Given the description of an element on the screen output the (x, y) to click on. 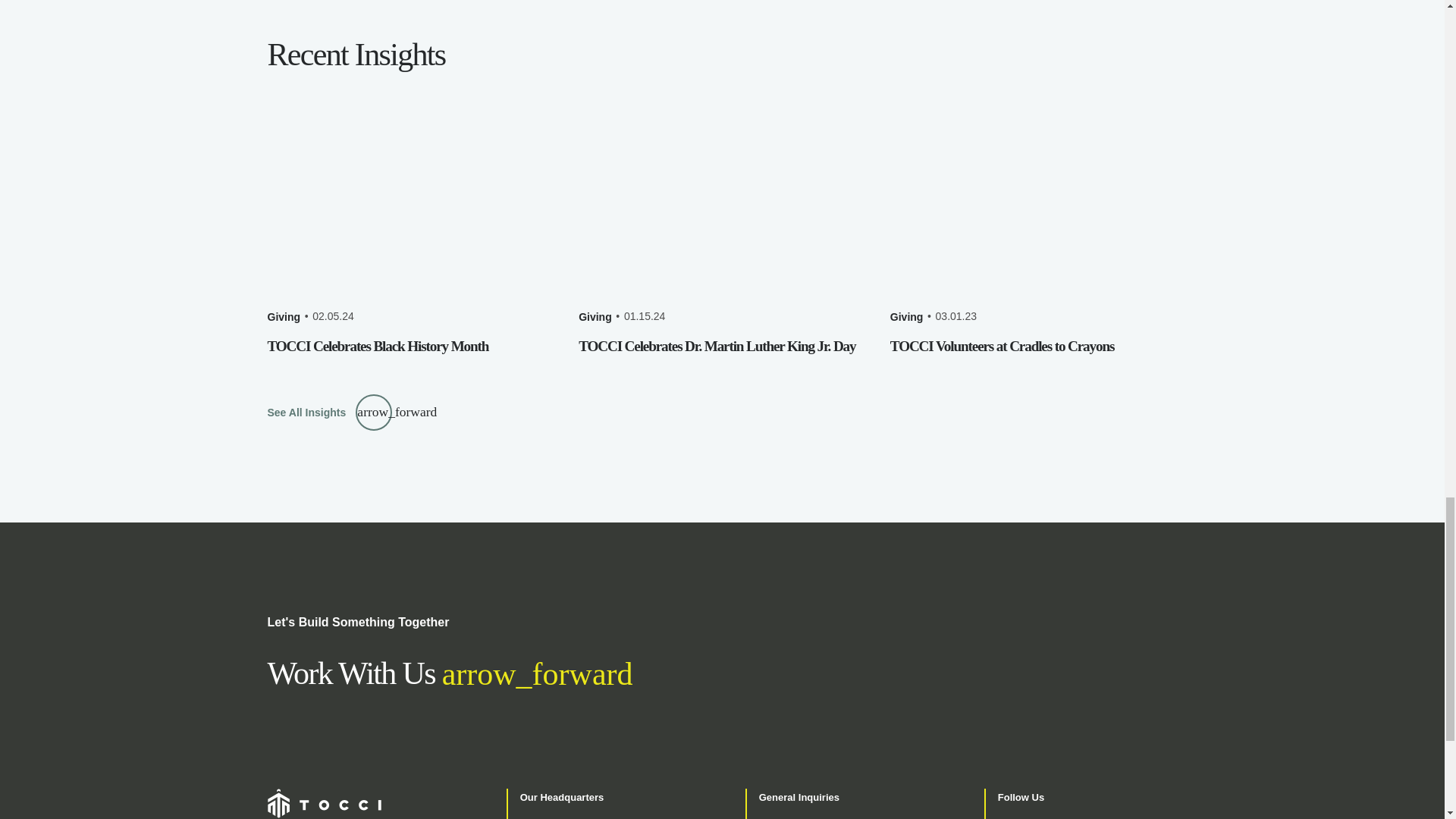
Giving (906, 316)
Giving (282, 316)
TOCCI Volunteers at Cradles to Crayons (1001, 345)
See All Insights (328, 412)
Giving (594, 316)
TOCCI Celebrates Dr. Martin Luther King Jr. Day (717, 345)
Instagram (1070, 818)
TOCCI Celebrates Black History Month (376, 345)
